Given the description of an element on the screen output the (x, y) to click on. 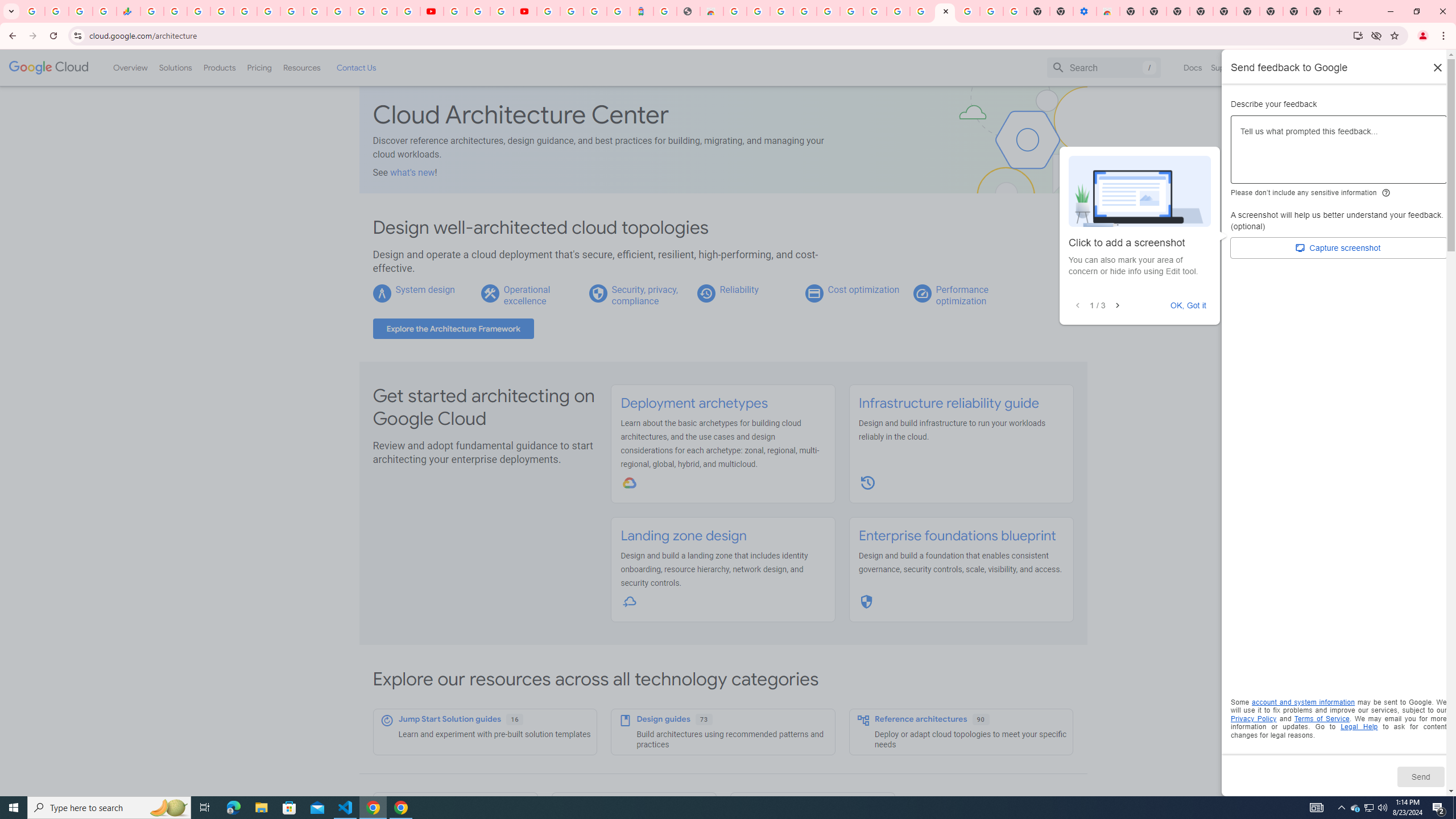
Previous (1078, 305)
Install Google Cloud (1358, 35)
Products (218, 67)
Content Creator Programs & Opportunities - YouTube Creators (524, 11)
Deployment archetypes (694, 402)
Sign in - Google Accounts (338, 11)
Next (1117, 305)
Solutions (175, 67)
Chrome Web Store - Household (711, 11)
